Given the description of an element on the screen output the (x, y) to click on. 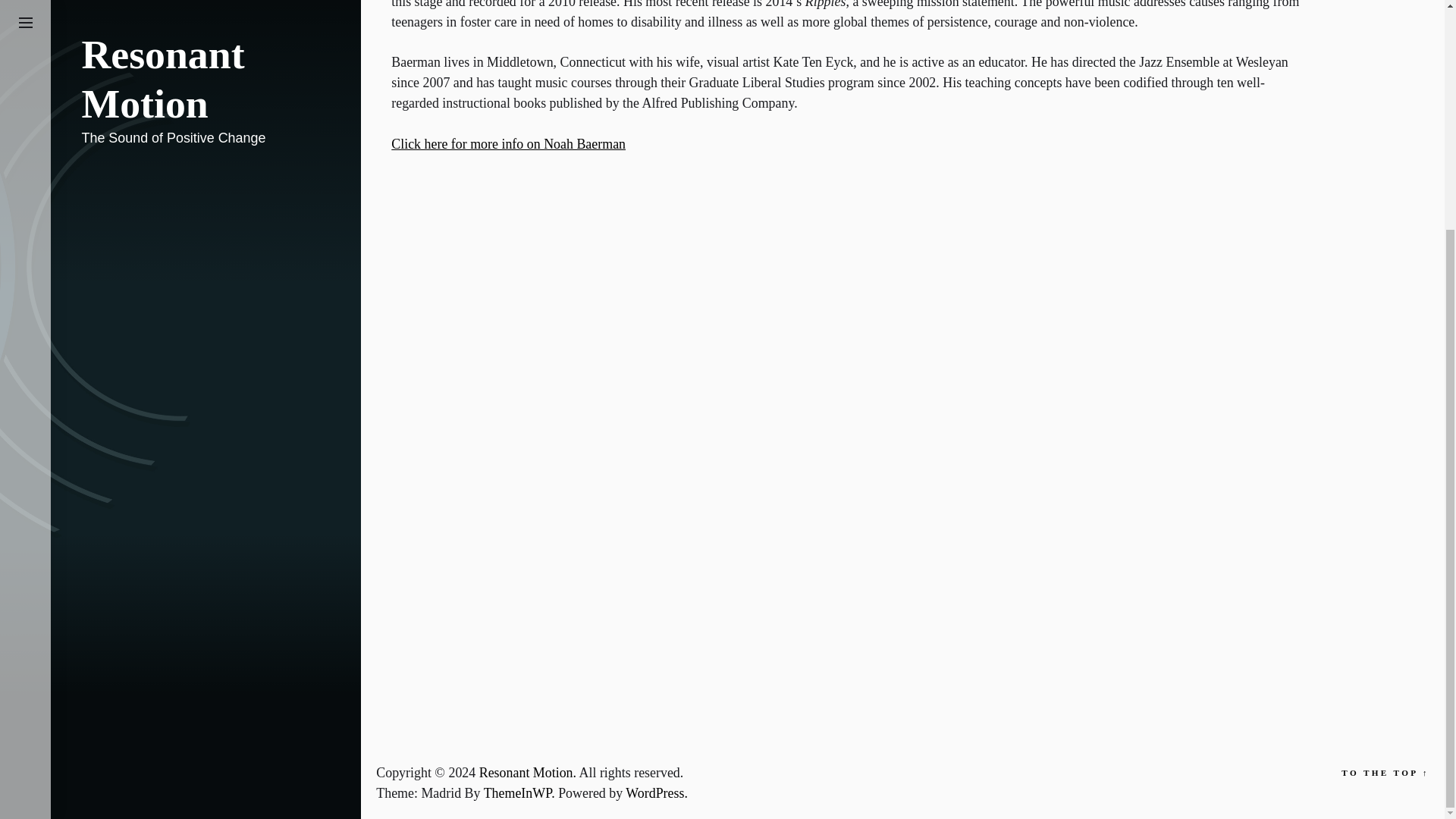
Click here for more info on Noah Baerman (508, 143)
Resonant Motion (529, 772)
ThemeInWP (520, 792)
Resonant Motion. (529, 772)
WordPress (656, 792)
WordPress. (656, 792)
ThemeInWP. (520, 792)
